Given the description of an element on the screen output the (x, y) to click on. 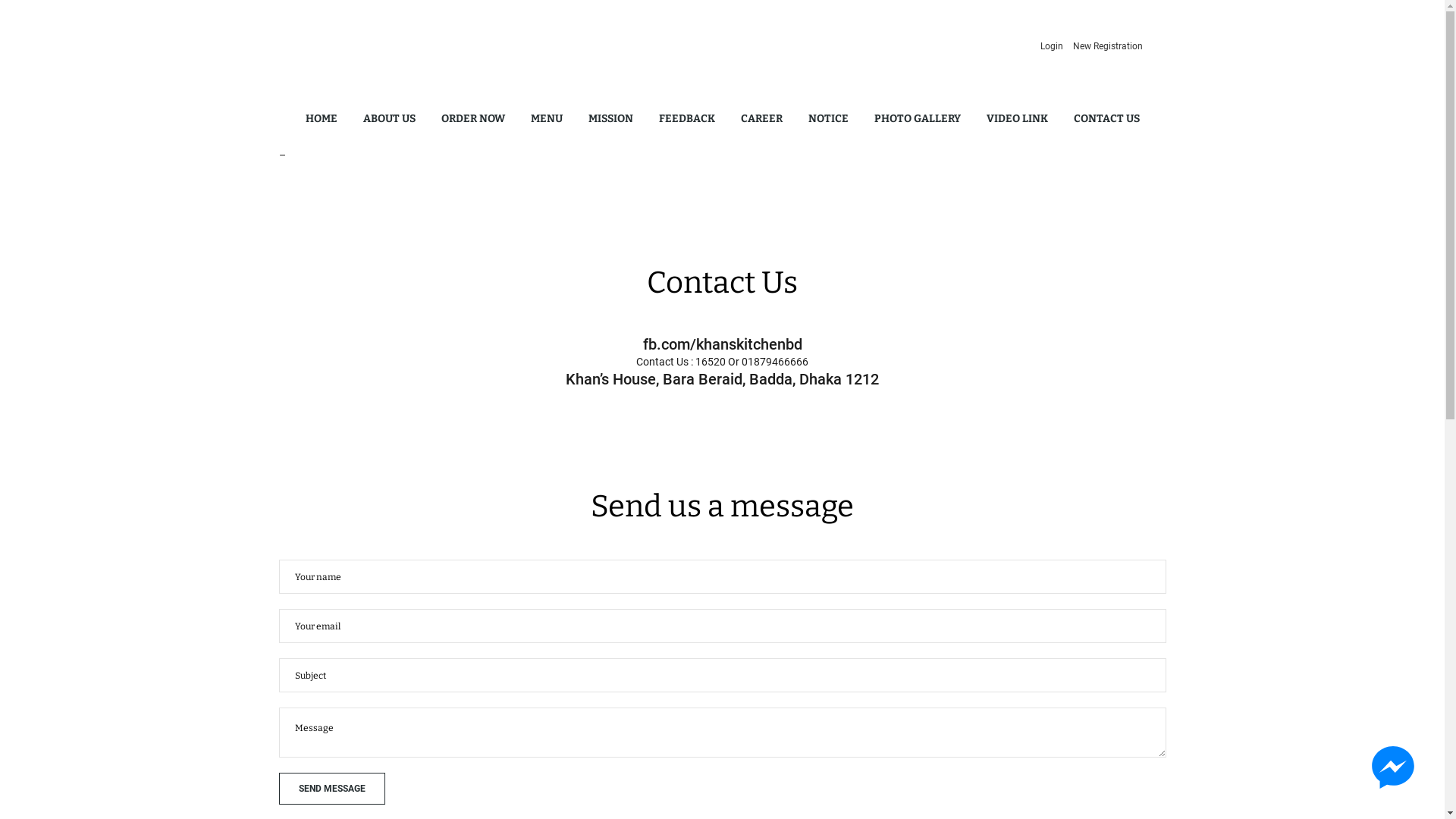
CAREER Element type: text (760, 118)
VIDEO LINK Element type: text (1016, 118)
MENU Element type: text (546, 118)
MISSION Element type: text (610, 118)
PHOTO GALLERY Element type: text (916, 118)
ABOUT US Element type: text (388, 118)
ORDER NOW Element type: text (472, 118)
HOME Element type: text (320, 118)
CONTACT US Element type: text (1106, 118)
FEEDBACK Element type: text (685, 118)
NOTICE Element type: text (828, 118)
Login Element type: text (1051, 46)
New Registration Element type: text (1107, 46)
